Given the description of an element on the screen output the (x, y) to click on. 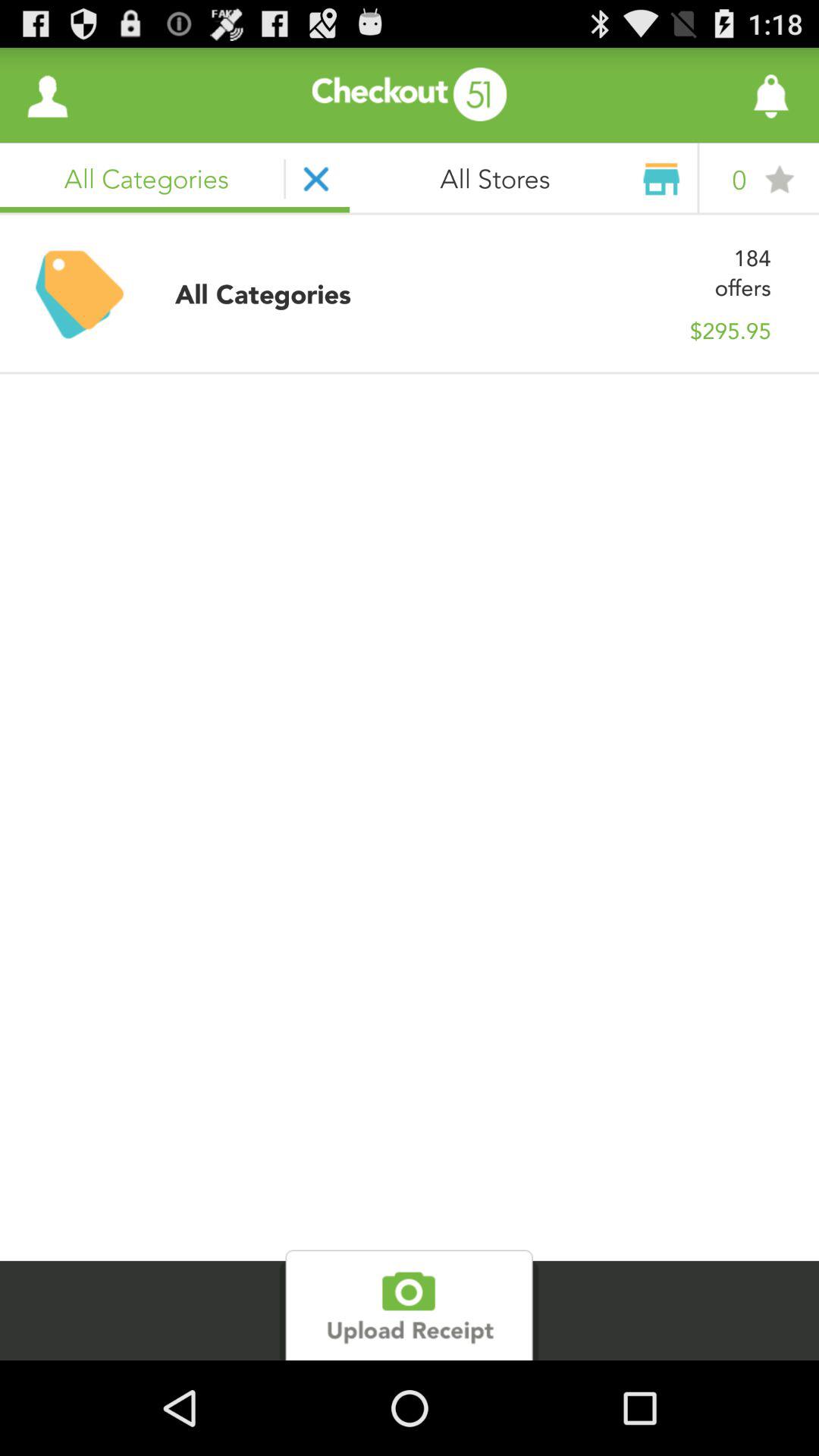
go to star icon (779, 178)
select the last option which is in the green color (409, 1304)
click on the right of close (524, 178)
